Given the description of an element on the screen output the (x, y) to click on. 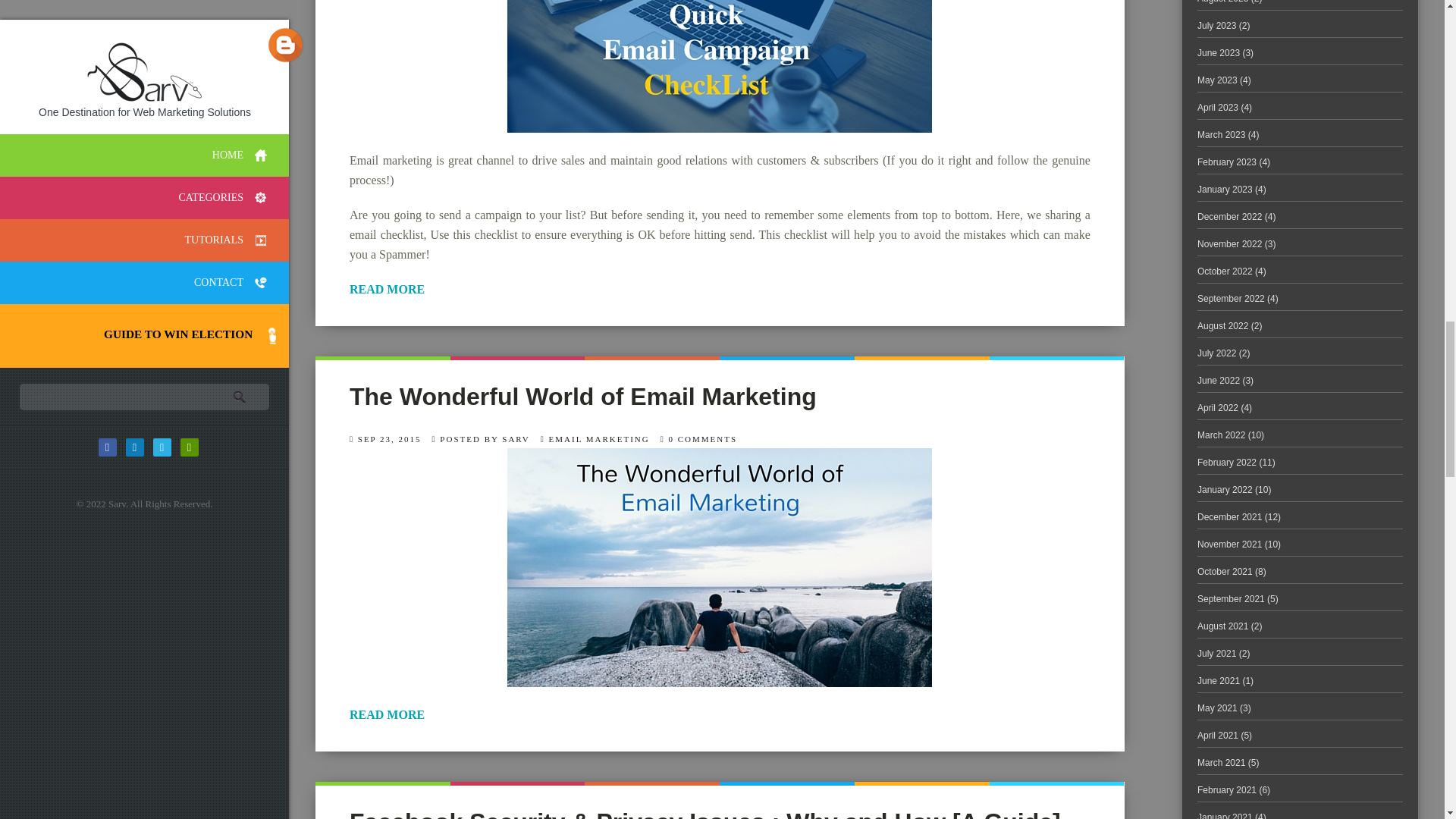
READ MORE (719, 289)
Comment on The Wonderful World of Email Marketing (703, 438)
